Given the description of an element on the screen output the (x, y) to click on. 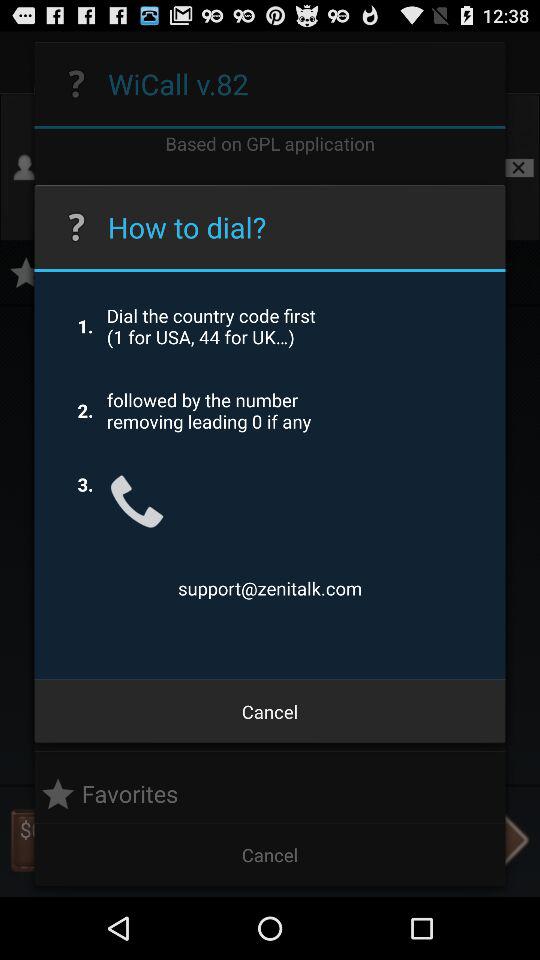
launch the cancel at the bottom (269, 711)
